Given the description of an element on the screen output the (x, y) to click on. 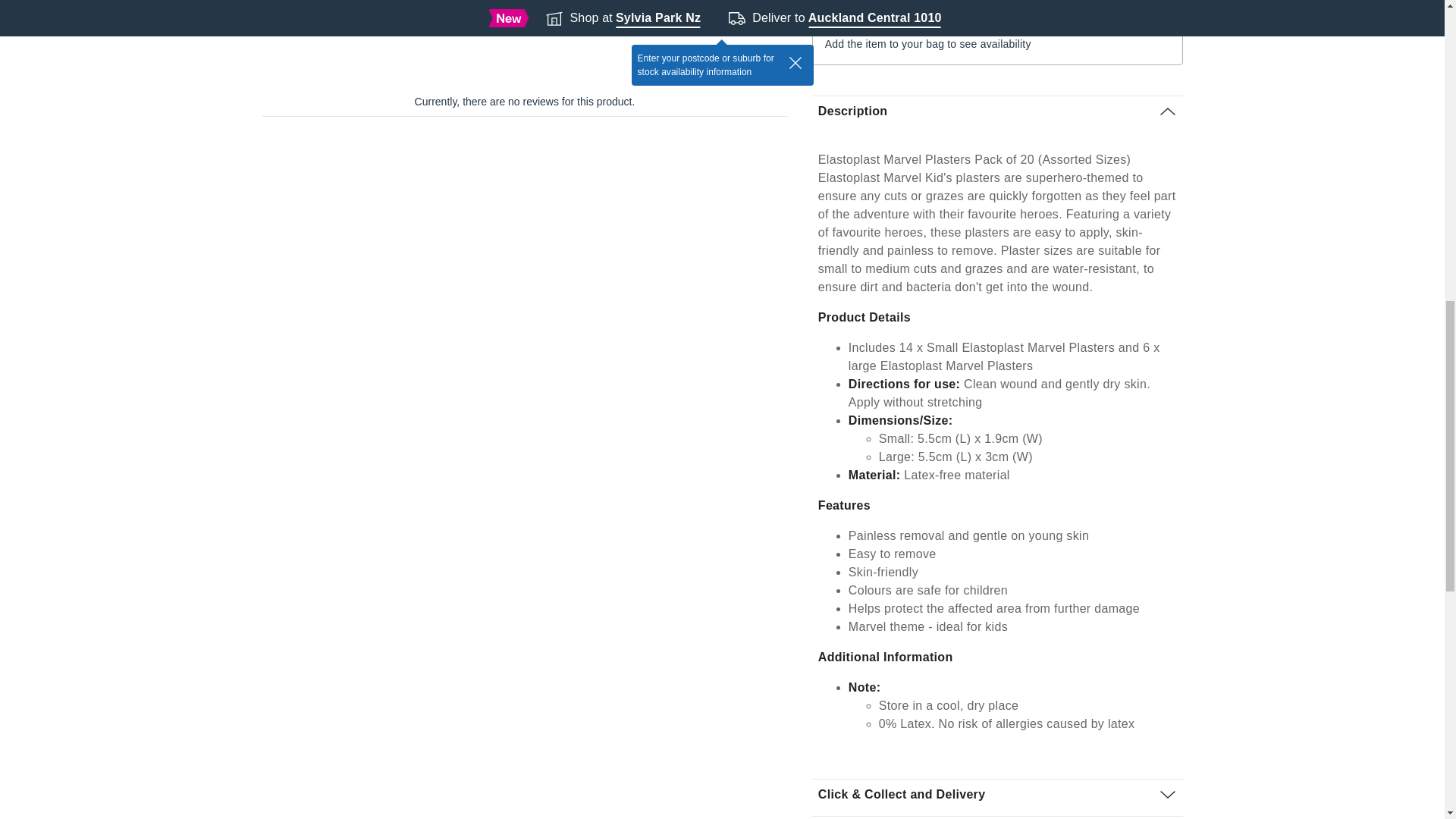
Expand (1167, 111)
Expand (993, 0)
